Given the description of an element on the screen output the (x, y) to click on. 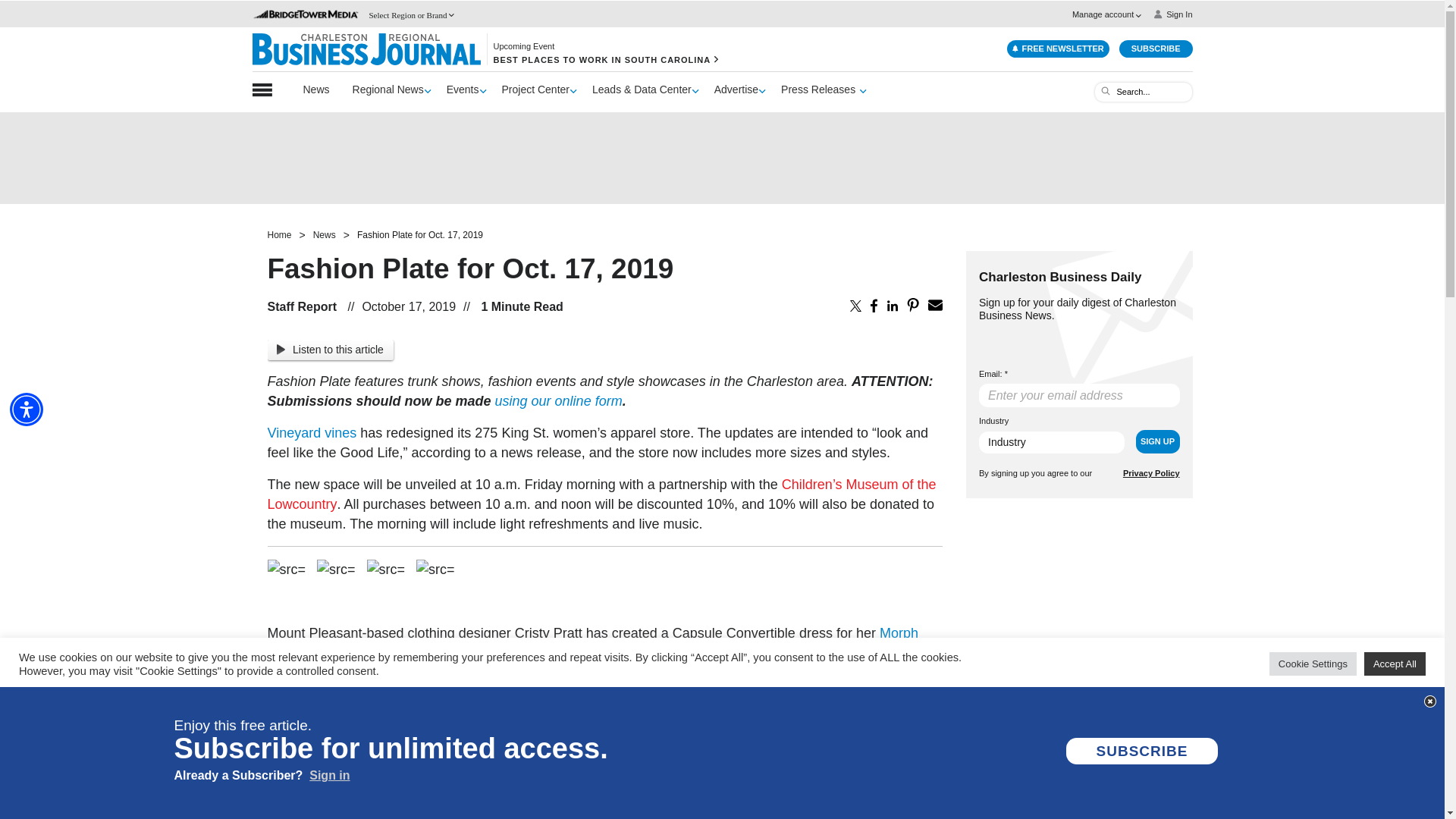
Share by Email (935, 304)
3rd party ad content (1079, 607)
3rd party ad content (722, 158)
Accessibility Menu (26, 409)
